Given the description of an element on the screen output the (x, y) to click on. 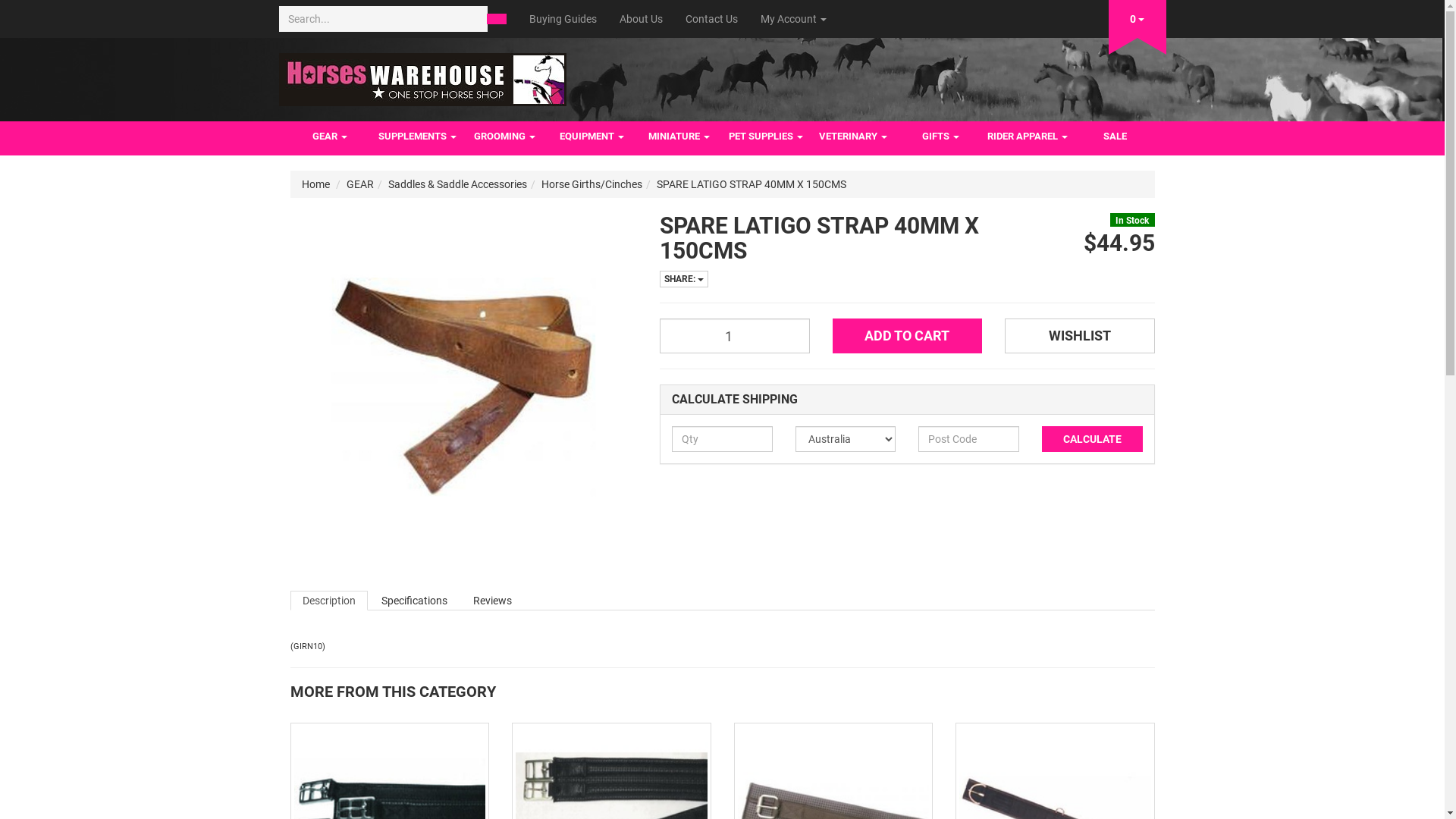
My Account Element type: text (793, 18)
Contact Us Element type: text (710, 18)
GROOMING Element type: text (504, 138)
Saddles & Saddle Accessories Element type: text (457, 184)
ADD TO CART Element type: text (907, 335)
Buying Guides Element type: text (562, 18)
GIFTS Element type: text (939, 138)
Home Element type: text (315, 184)
VETERINARY Element type: text (853, 138)
SHARE: Element type: text (683, 278)
Specifications Element type: text (413, 599)
SPARE LATIGO STRAP 40MM X 150CMS Element type: text (751, 184)
Reviews Element type: text (492, 599)
SALE Element type: text (1113, 138)
RIDER APPAREL Element type: text (1027, 138)
PET SUPPLIES Element type: text (765, 138)
MINIATURE Element type: text (678, 138)
About Us Element type: text (641, 18)
CALCULATE Element type: text (1091, 438)
GEAR Element type: text (329, 138)
WISHLIST Element type: text (1079, 335)
Horse Girths/Cinches Element type: text (591, 184)
GEAR Element type: text (359, 184)
EQUIPMENT Element type: text (590, 138)
Description Element type: text (328, 599)
0 Element type: text (1137, 15)
SUPPLEMENTS Element type: text (416, 138)
Search Element type: text (496, 18)
Horses Warehouse  Element type: hover (422, 75)
